Given the description of an element on the screen output the (x, y) to click on. 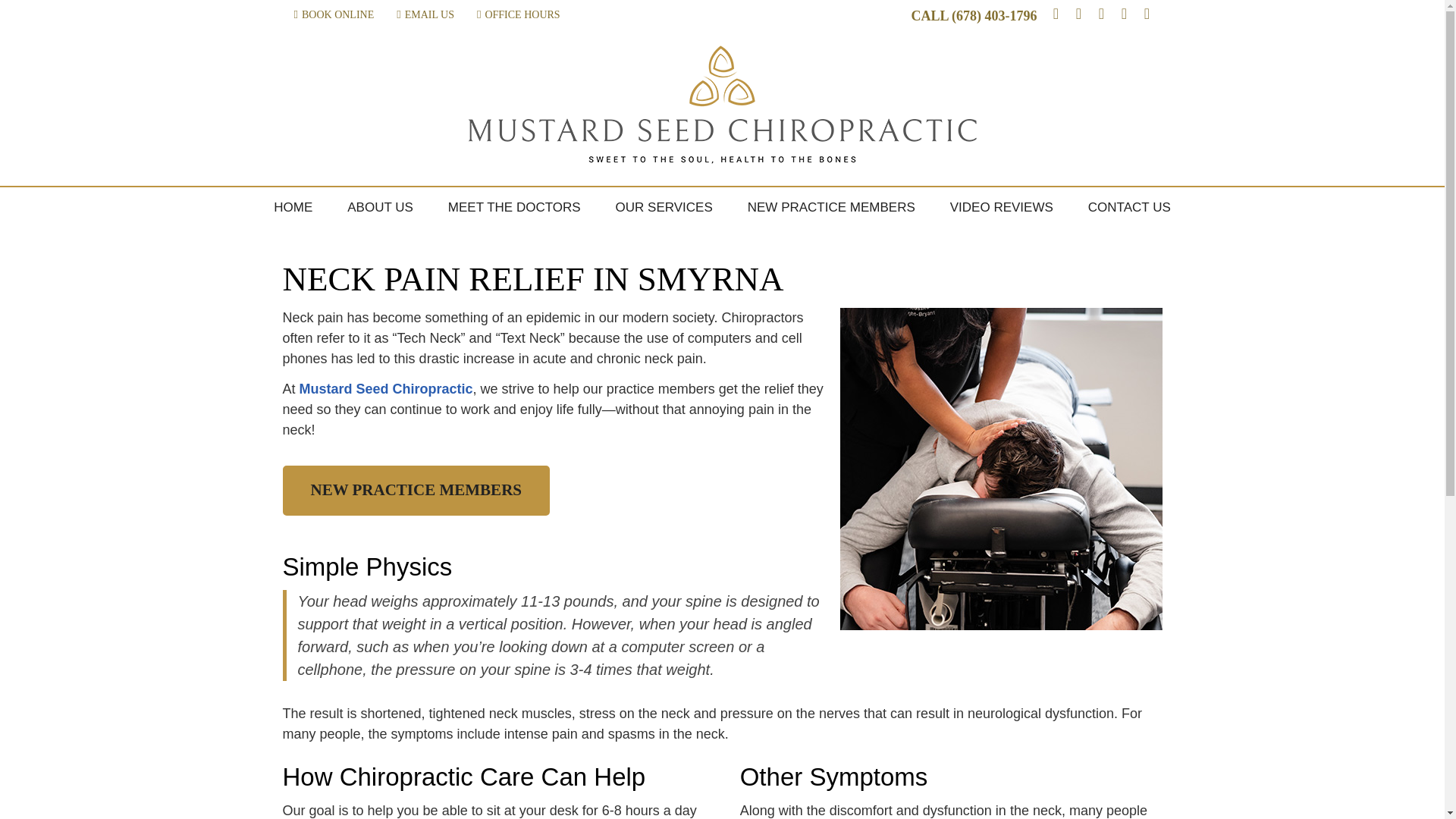
MEET THE DOCTORS (514, 207)
HOME (293, 207)
Welcome to Mustard Seed Chiropractic (721, 159)
OFFICE HOURS (517, 14)
Facebook Social Button (1055, 14)
NEW PRACTICE MEMBERS (415, 490)
Yelp Social Button (1146, 14)
EMAIL US (424, 14)
NEW PRACTICE MEMBERS (831, 207)
VIDEO REVIEWS (1001, 207)
